Given the description of an element on the screen output the (x, y) to click on. 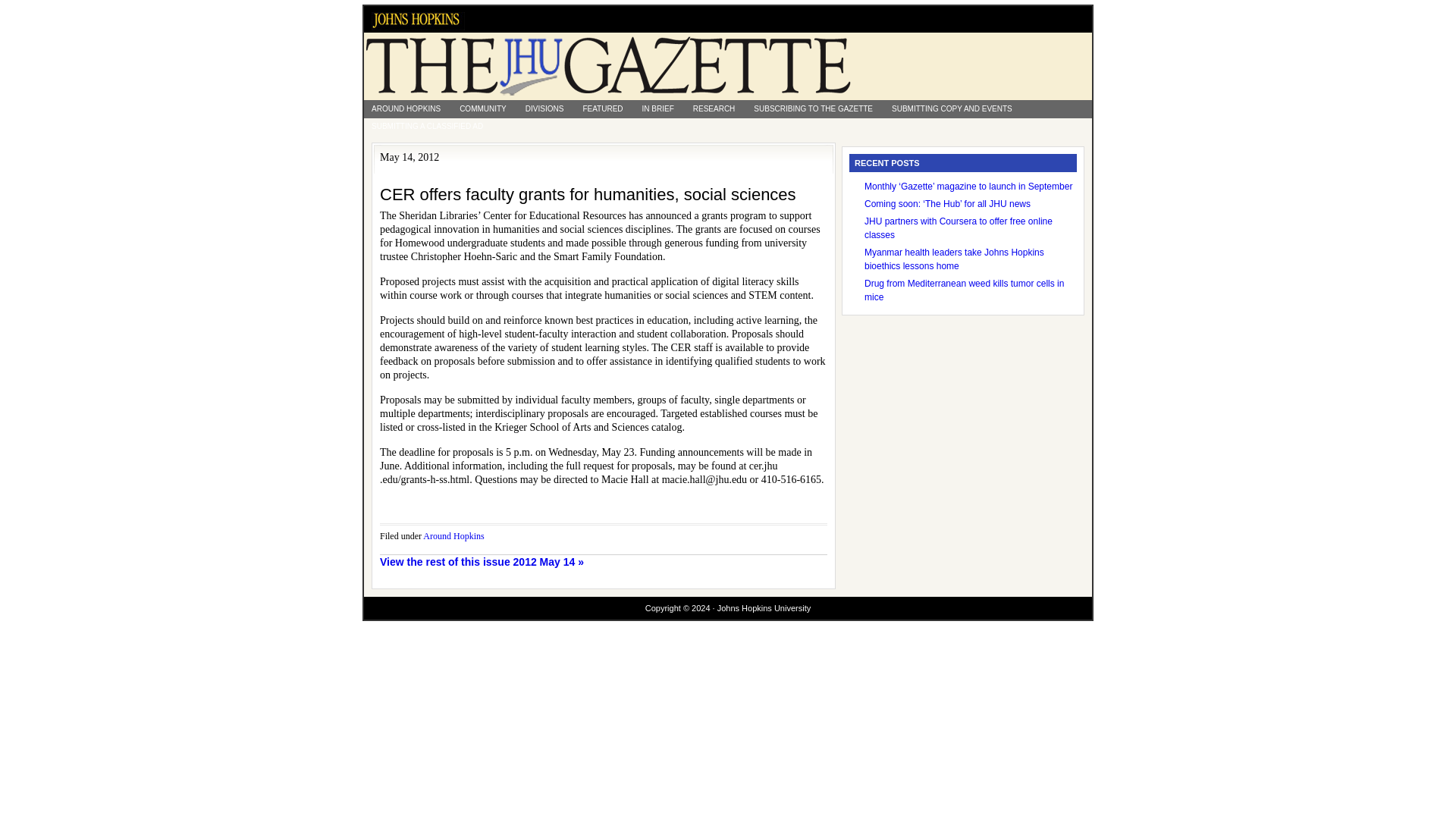
AROUND HOPKINS (406, 108)
IN BRIEF (657, 108)
COMMUNITY (482, 108)
FEATURED (602, 108)
DIVISIONS (545, 108)
